Given the description of an element on the screen output the (x, y) to click on. 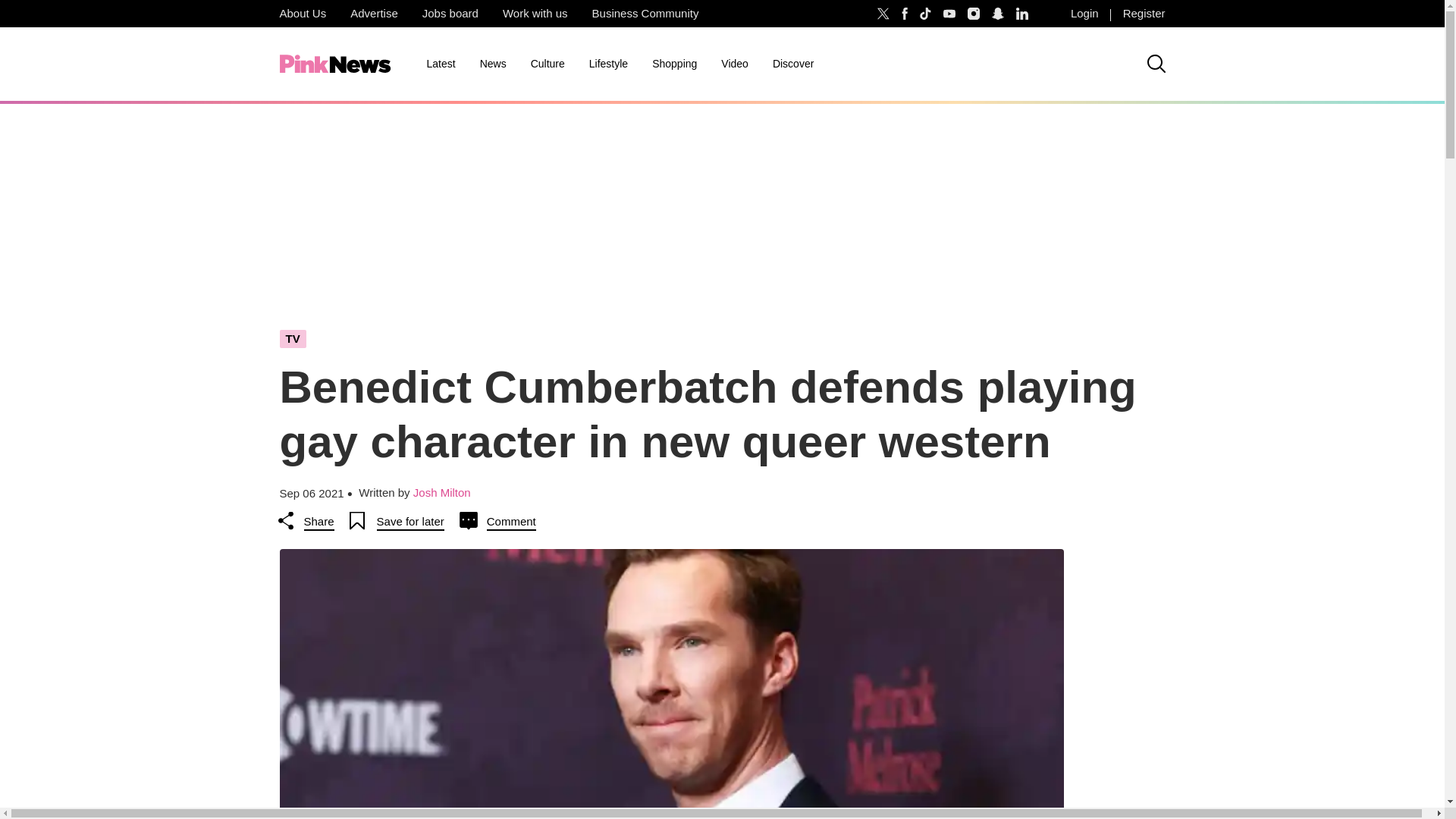
Latest (440, 63)
Lifestyle (608, 63)
Login (1084, 13)
Jobs board (450, 13)
News (493, 63)
Register (1143, 13)
Business Community (645, 13)
Culture (547, 63)
Advertise (373, 13)
About Us (301, 13)
